Given the description of an element on the screen output the (x, y) to click on. 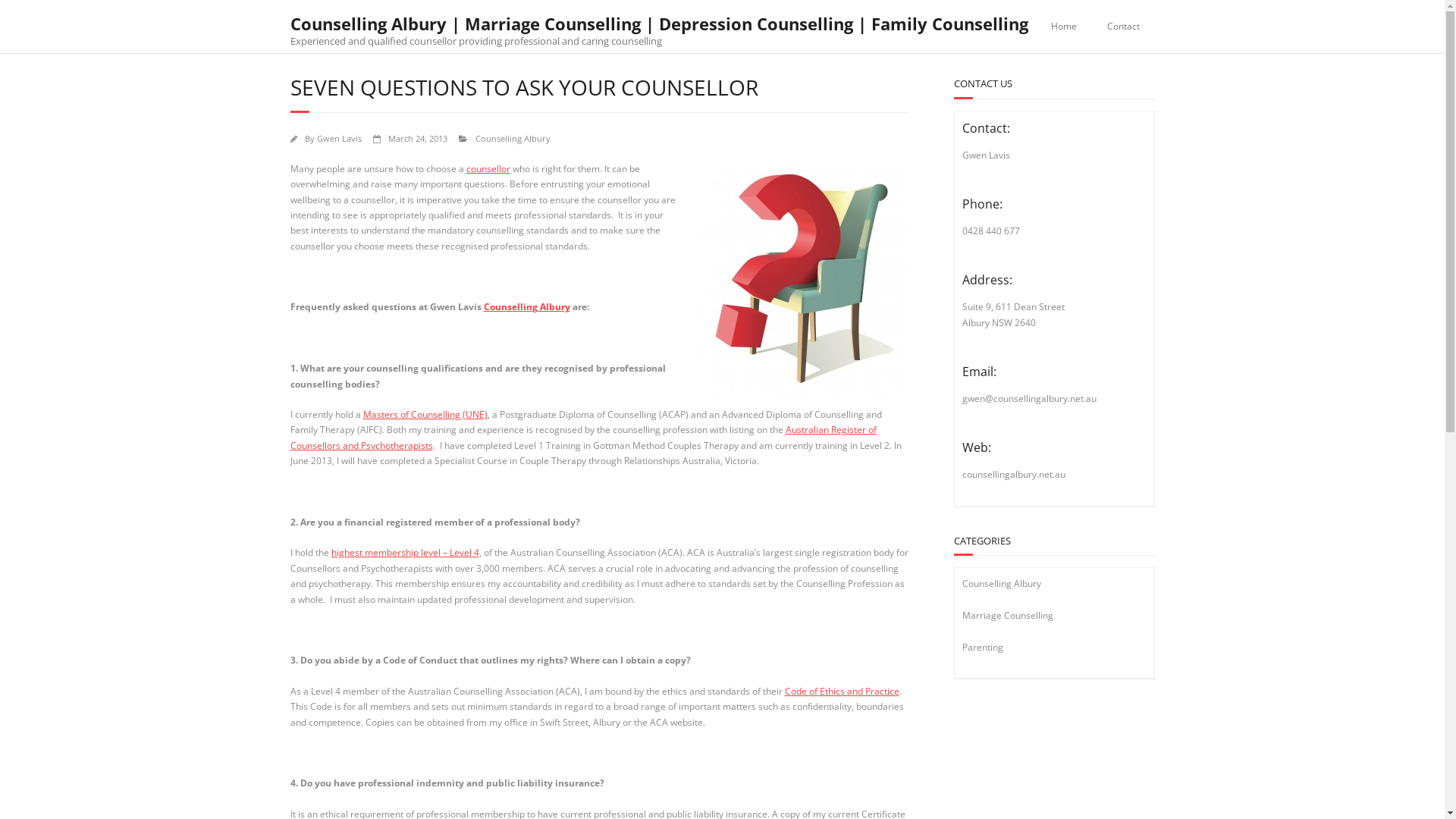
Masters of Counselling (UNE) Element type: text (424, 413)
Home Element type: text (1063, 26)
gwen@counsellingalbury.net.au Element type: text (1028, 398)
counsellingalbury.net.au Element type: text (1012, 473)
Marriage Counselling Element type: text (1006, 614)
March 24, 2013 Element type: text (417, 138)
Parenting Element type: text (981, 646)
Counselling Albury Element type: text (1000, 583)
Australian Register of Counsellors and Psychotherapists Element type: text (582, 437)
Gwen Lavis Element type: text (338, 138)
0428 440 677 Element type: text (990, 230)
Counselling Albury Element type: text (526, 306)
Counselling Albury Element type: text (511, 138)
counsellor Element type: text (487, 168)
Code of Ethics and Practice Element type: text (841, 690)
Contact Element type: text (1123, 26)
